Given the description of an element on the screen output the (x, y) to click on. 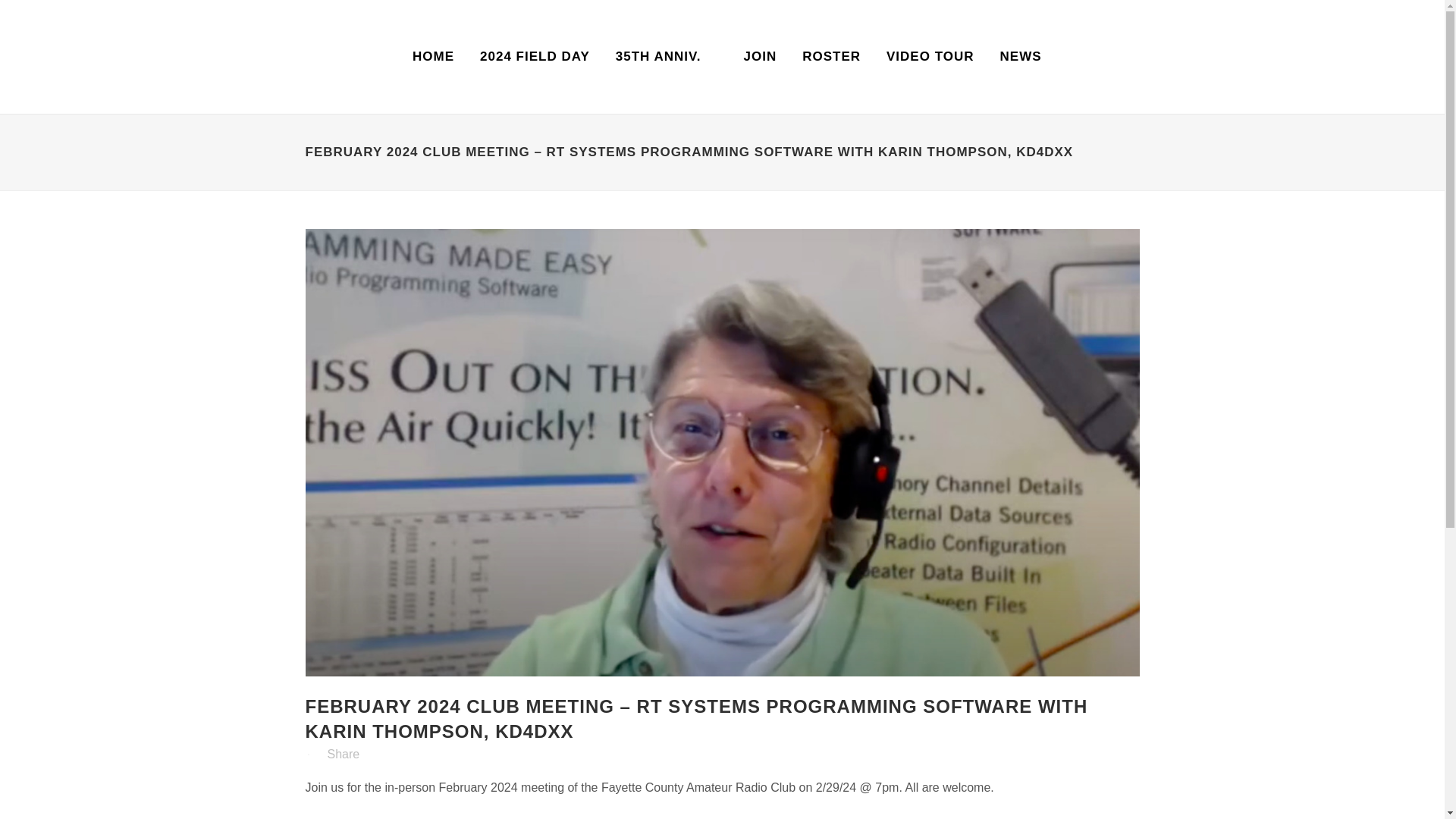
35TH ANNIV. (658, 56)
Share (343, 753)
2024 FIELD DAY (534, 56)
VIDEO TOUR (930, 56)
